Given the description of an element on the screen output the (x, y) to click on. 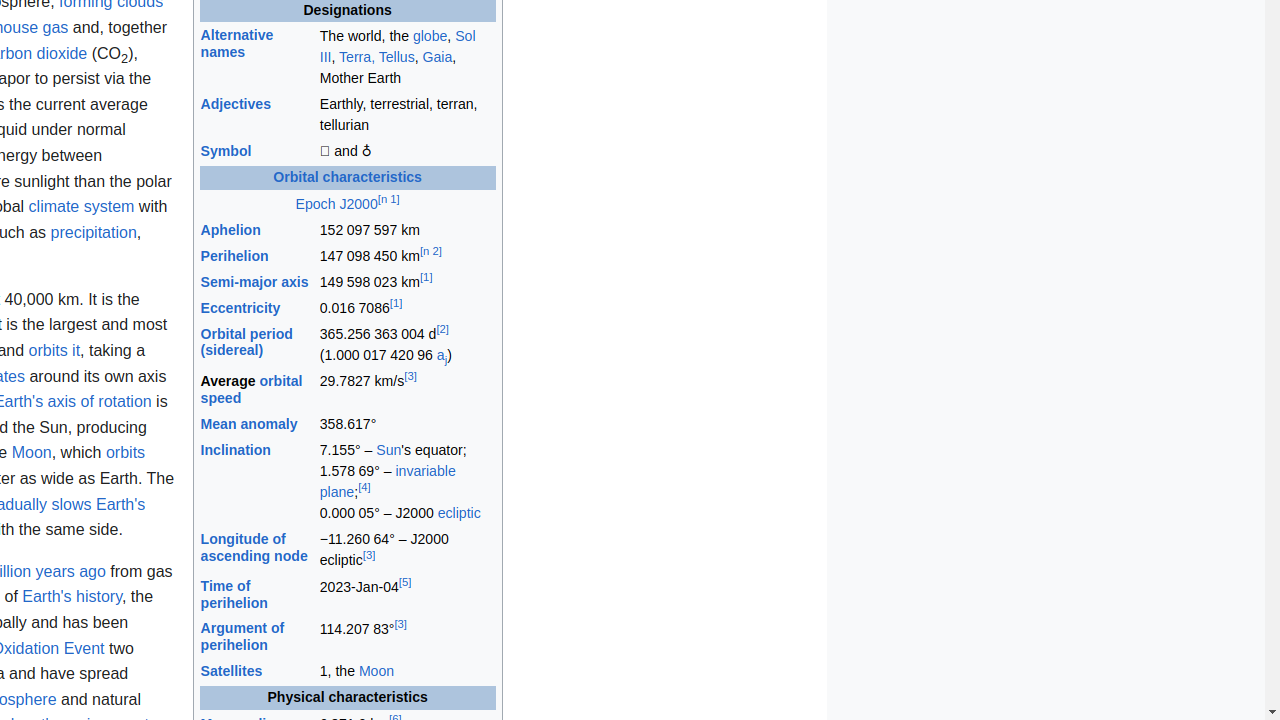
J2000 Element type: link (358, 203)
Inclination Element type: link (235, 449)
Sol III Element type: link (397, 46)
114.20783°[3] Element type: table-cell (407, 637)
Eccentricity Element type: link (240, 308)
